Given the description of an element on the screen output the (x, y) to click on. 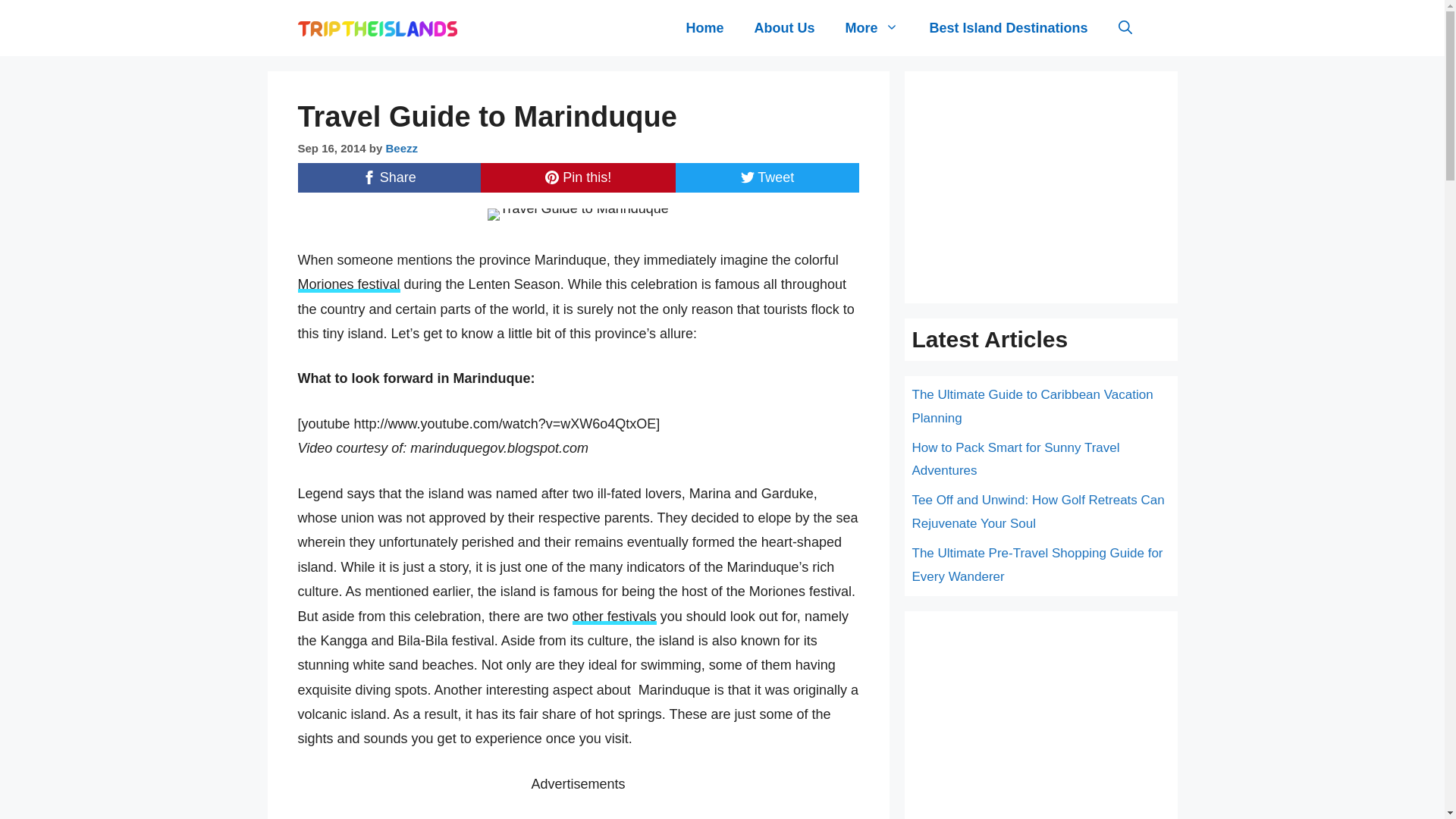
Moriones festival (347, 284)
Share (388, 176)
Travel Guide to Marinduque 1 (577, 214)
How to Pack Smart for Sunny Travel Adventures (1015, 459)
The Ultimate Pre-Travel Shopping Guide for Every Wanderer (1036, 564)
The Ultimate Guide to Caribbean Vacation Planning (1032, 406)
Best Island Destinations (1008, 27)
Honoring Sto. Nino with the Sinulog Festival (614, 616)
Pin this! (577, 176)
About Us (783, 27)
Moriones Festival: A Holy Week Escapade (347, 284)
More (871, 27)
other festivals (614, 616)
Tweet (767, 176)
